Given the description of an element on the screen output the (x, y) to click on. 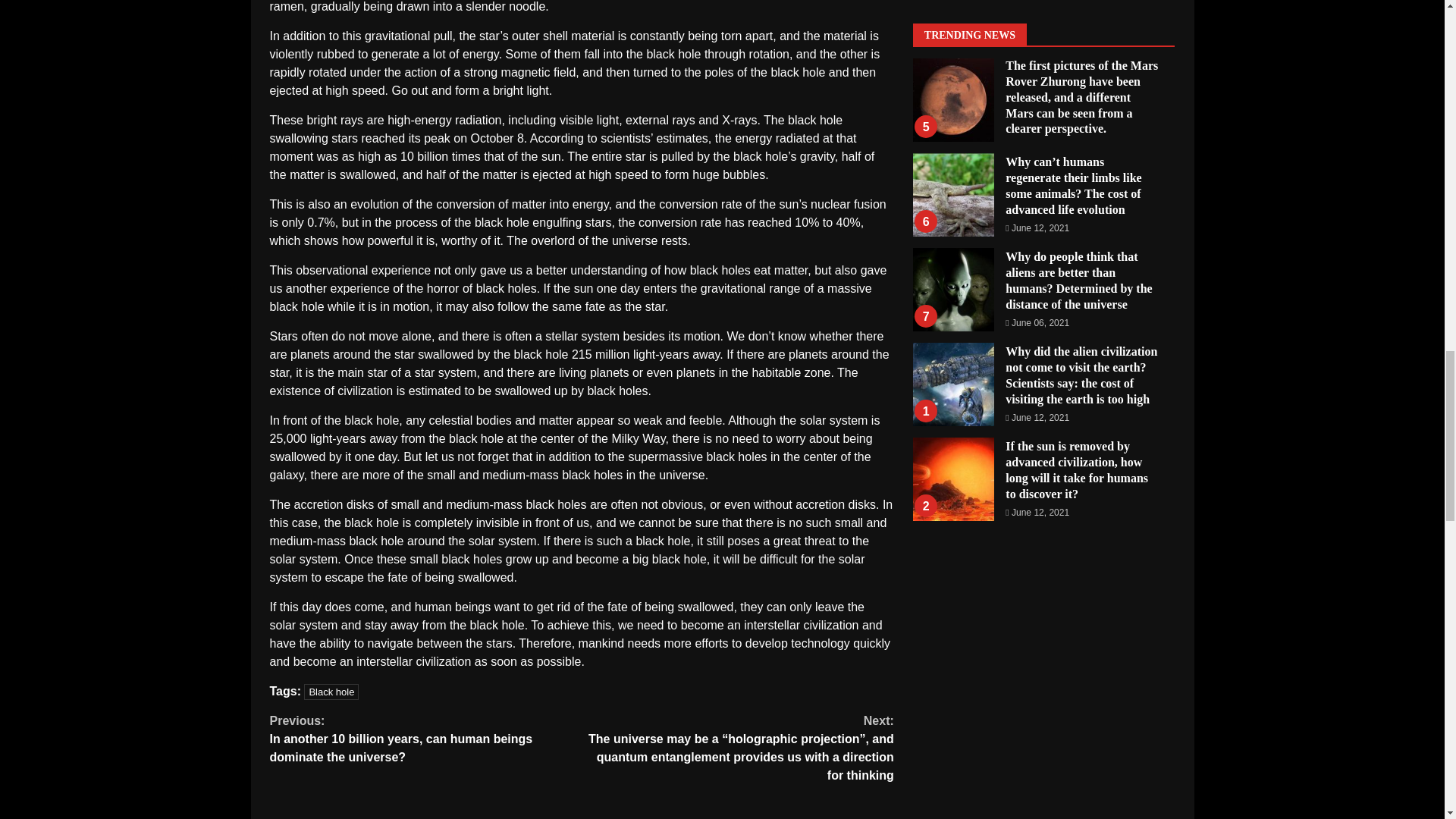
Black hole (331, 691)
